Given the description of an element on the screen output the (x, y) to click on. 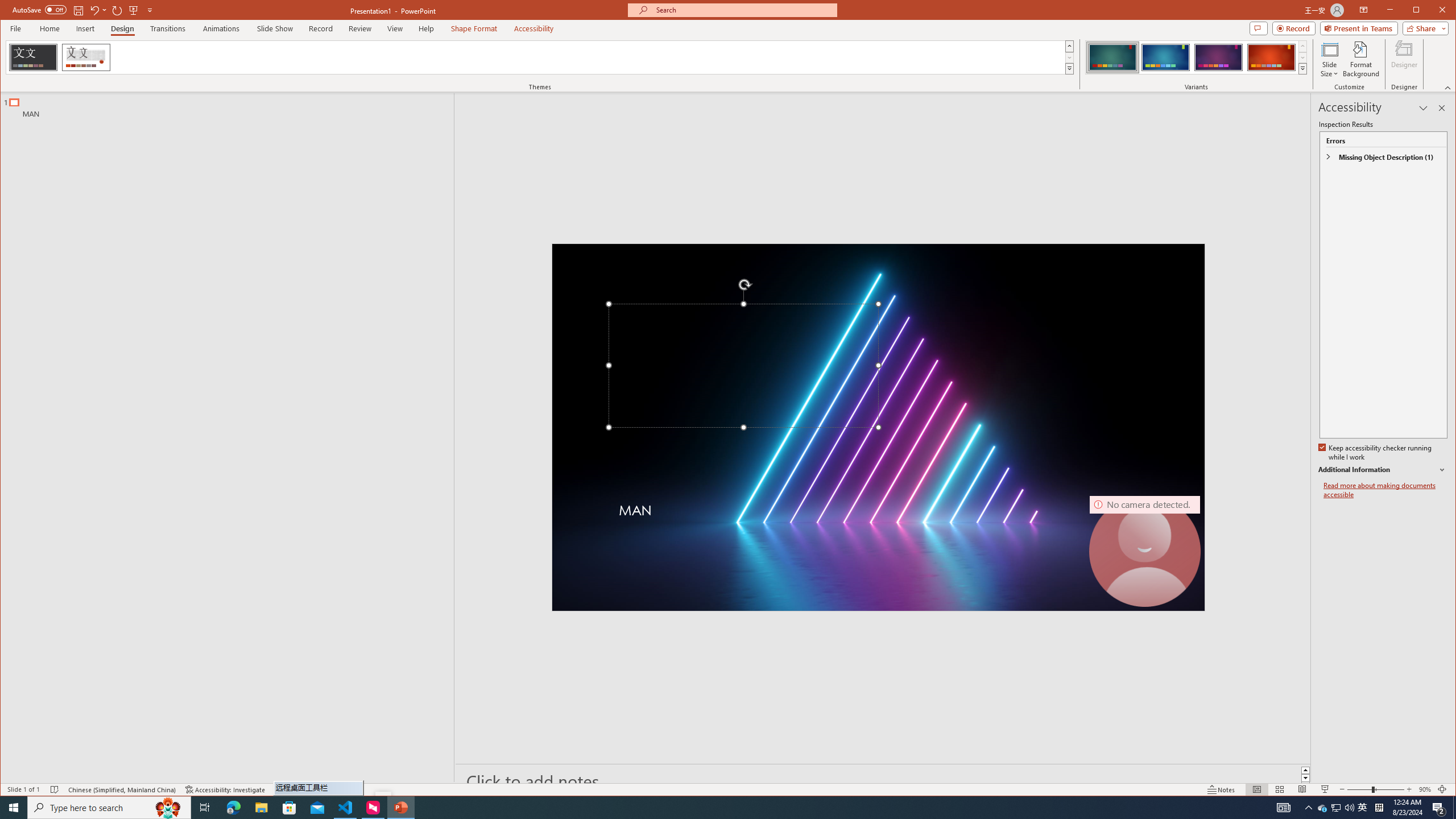
Neon laser lights aligned to form a triangle (877, 427)
